Given the description of an element on the screen output the (x, y) to click on. 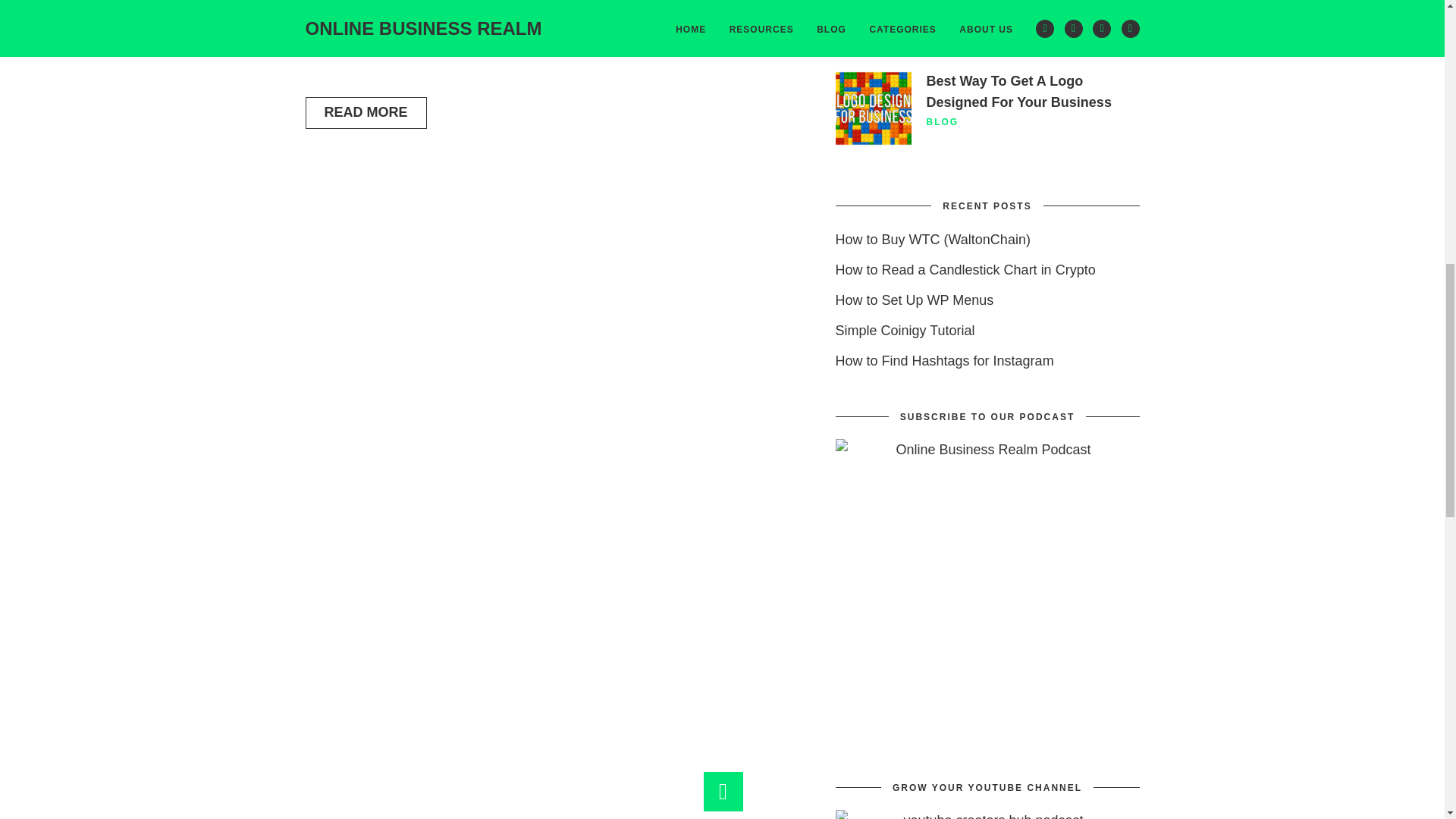
How To Make Money With Affiliate Marketing (1009, 7)
READ MORE (365, 112)
